Given the description of an element on the screen output the (x, y) to click on. 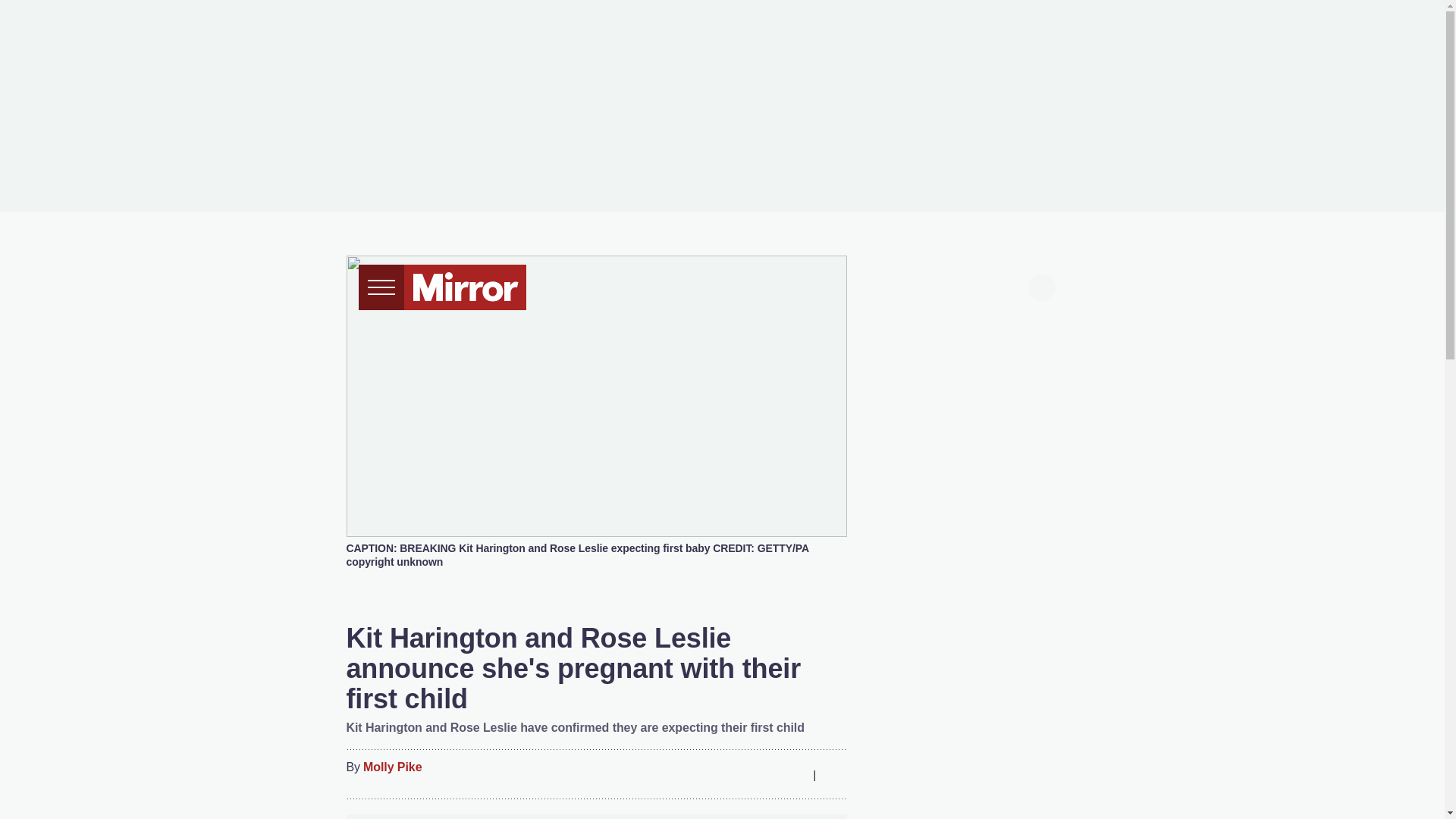
Twitter (733, 774)
Facebook (702, 774)
tiktok (955, 285)
Whatsapp (763, 774)
instagram (984, 285)
facebook (897, 285)
Comments (834, 774)
snapchat (1012, 285)
Molly Pike (392, 767)
twitter (926, 285)
